Given the description of an element on the screen output the (x, y) to click on. 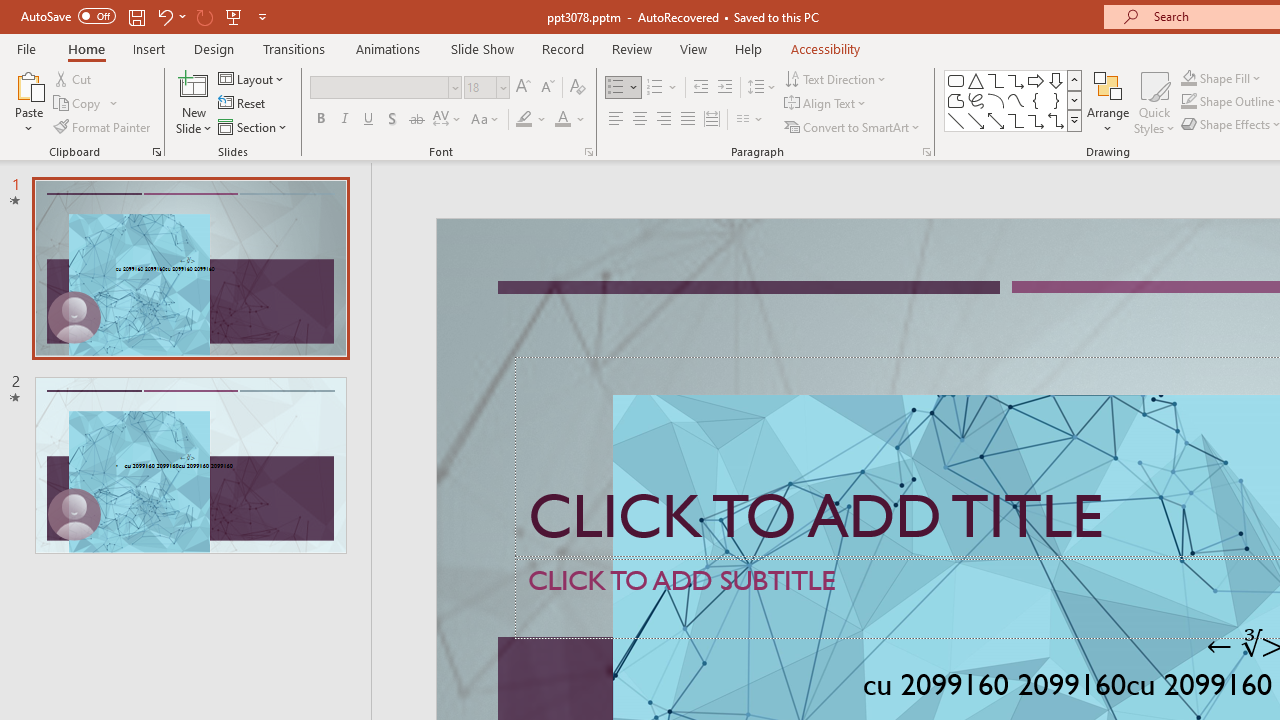
Paste (28, 84)
Bullets (616, 87)
Layout (252, 78)
Character Spacing (447, 119)
Row up (1074, 79)
Office Clipboard... (156, 151)
Text Highlight Color (531, 119)
Shapes (1074, 120)
Arc (995, 100)
Arrange (1108, 102)
Row Down (1074, 100)
Bold (320, 119)
Connector: Elbow (1016, 120)
